Given the description of an element on the screen output the (x, y) to click on. 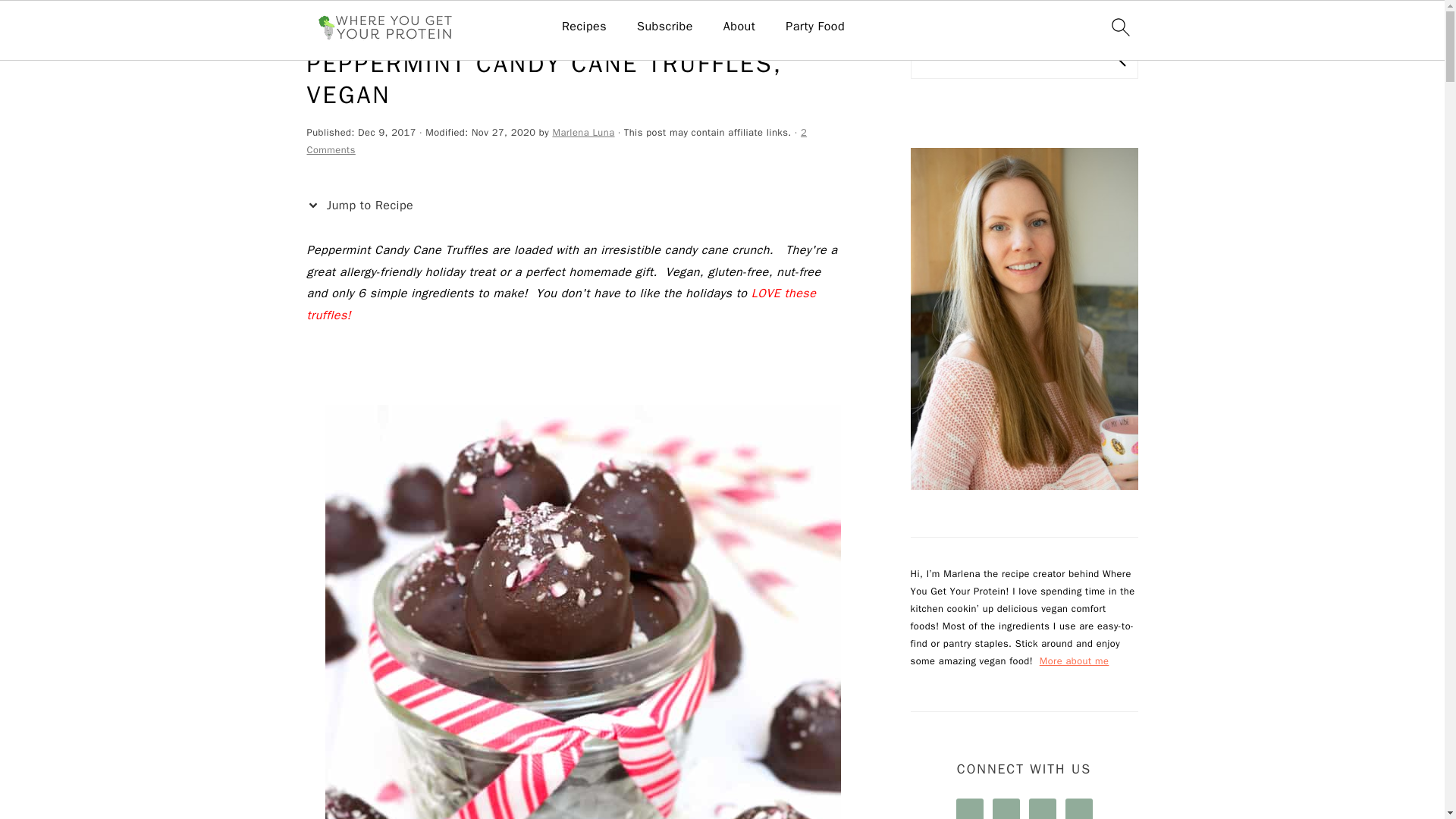
Home (322, 21)
search icon (1119, 26)
Party Food (815, 26)
Jump to Recipe (362, 205)
Desserts (377, 21)
About (739, 26)
Marlena Luna (582, 132)
2 Comments (555, 141)
Subscribe (665, 26)
Recipes (584, 26)
